Given the description of an element on the screen output the (x, y) to click on. 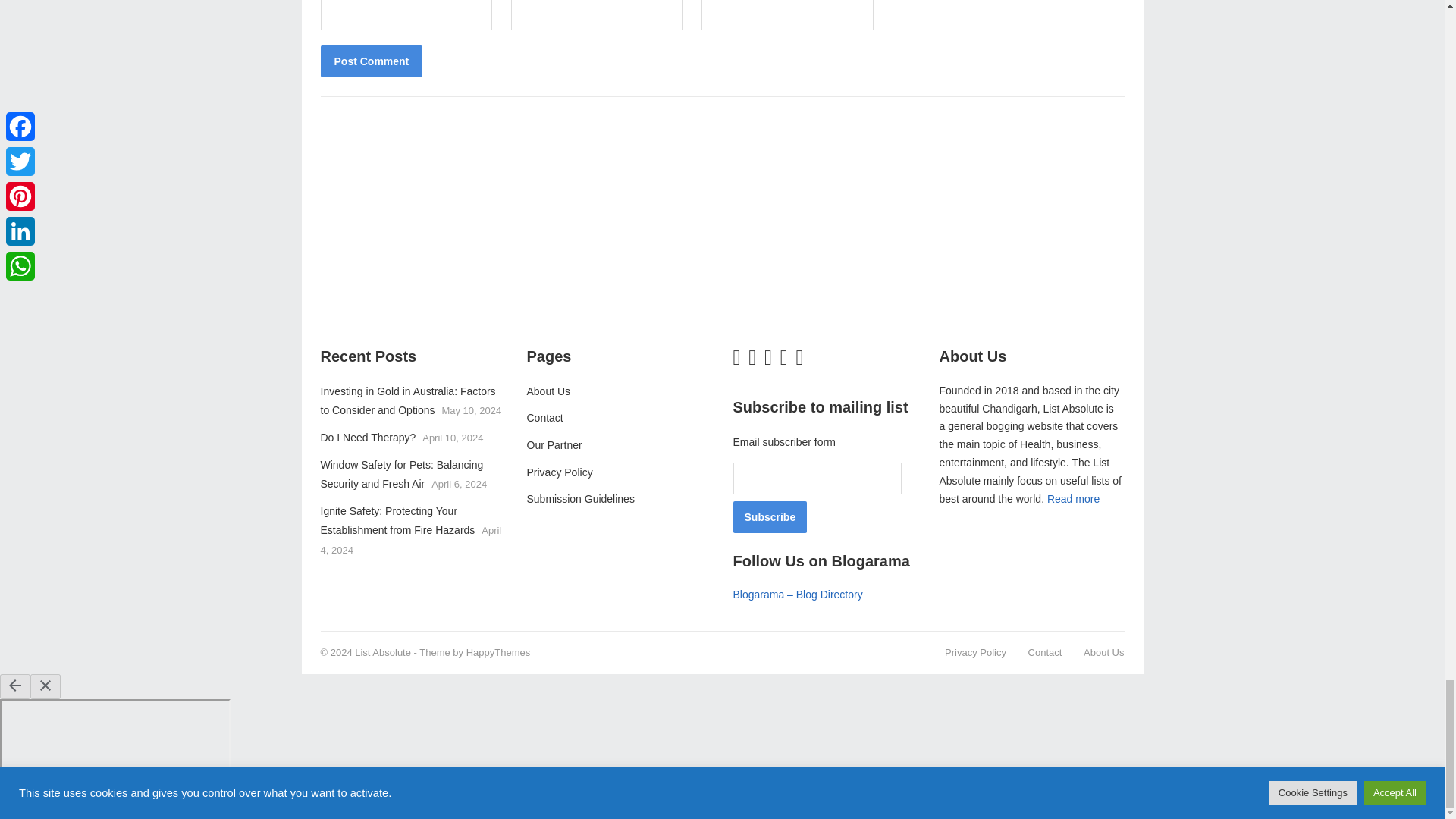
Post Comment (371, 60)
Subscribe (769, 517)
